Given the description of an element on the screen output the (x, y) to click on. 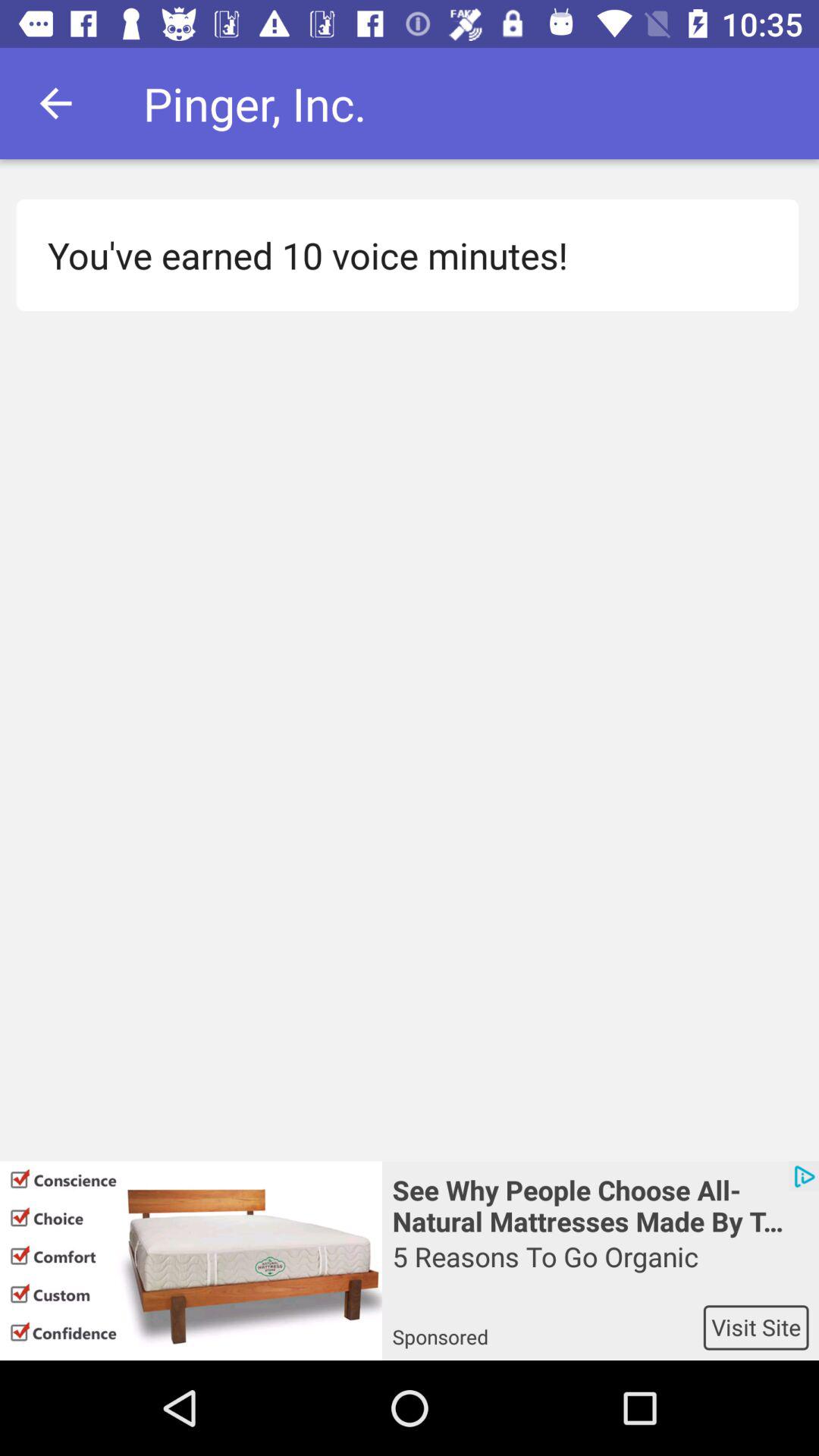
tap the item below the 5 reasons to item (547, 1327)
